Given the description of an element on the screen output the (x, y) to click on. 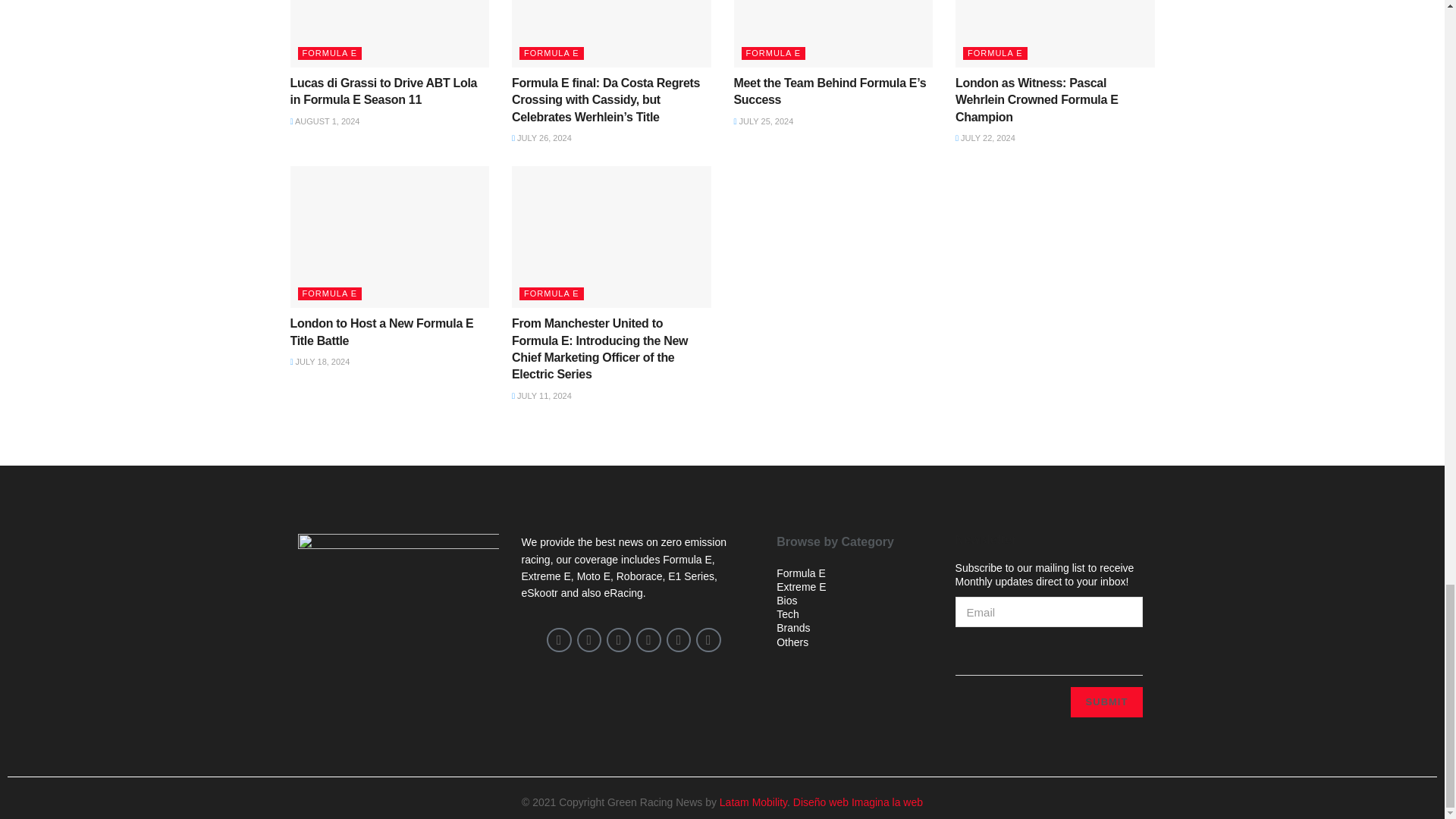
Submit (1106, 702)
